Given the description of an element on the screen output the (x, y) to click on. 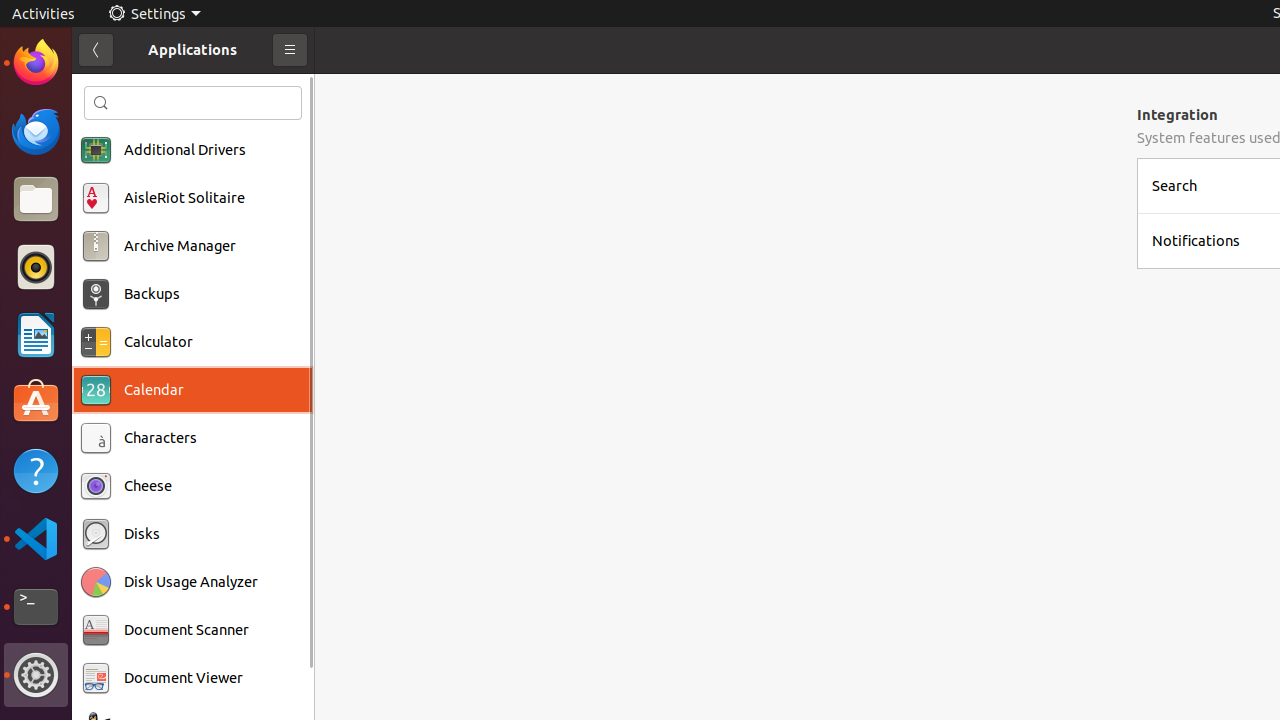
Calculator Element type: label (158, 342)
edit-find-symbolic Element type: icon (101, 103)
